Given the description of an element on the screen output the (x, y) to click on. 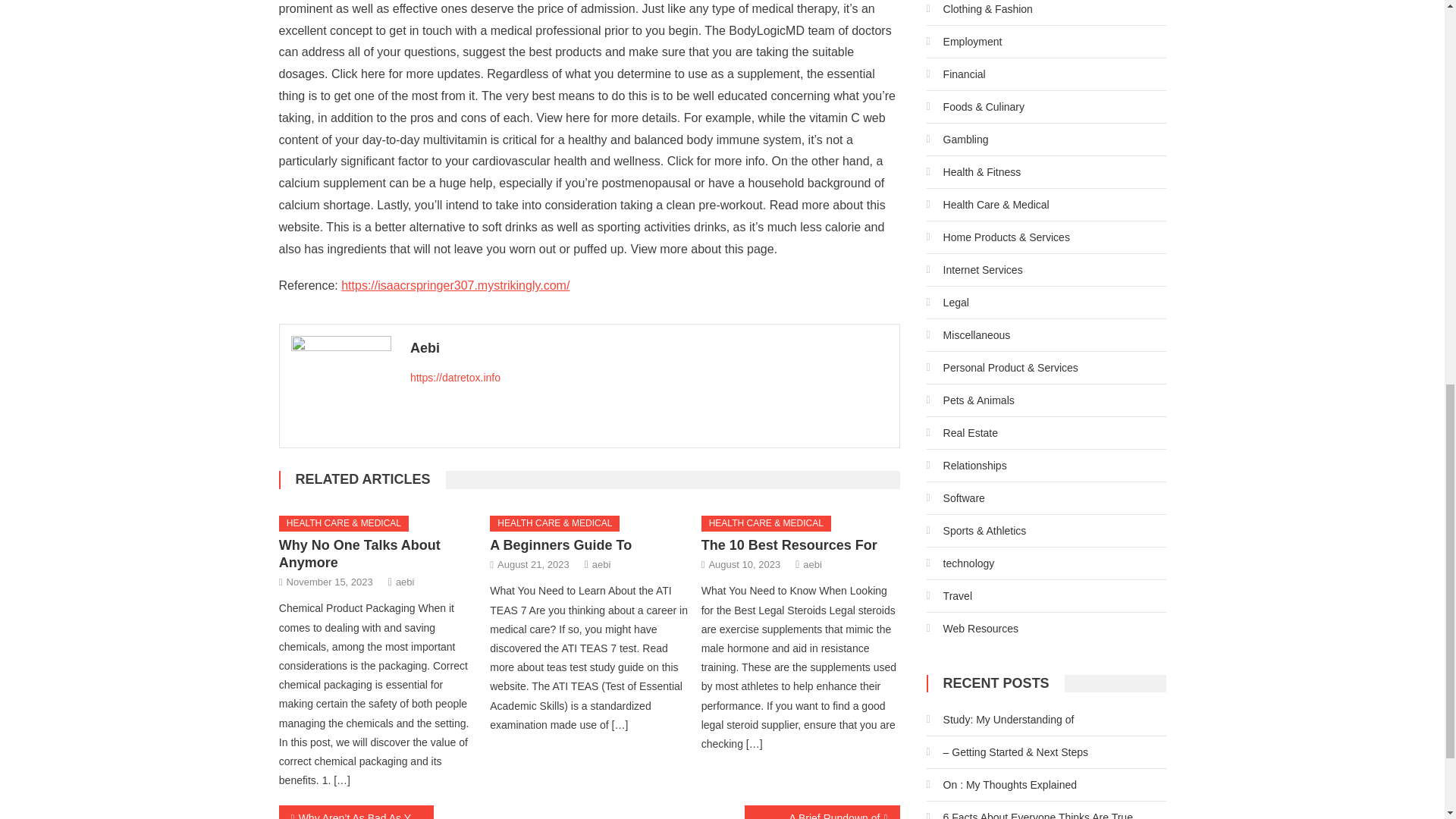
A Brief Rundown of (821, 812)
aebi (812, 564)
November 15, 2023 (329, 581)
Aebi (649, 347)
Why No One Talks About Anymore (360, 553)
aebi (601, 564)
A Beginners Guide To (560, 544)
The 10 Best Resources For (789, 544)
August 10, 2023 (743, 564)
aebi (405, 581)
August 21, 2023 (533, 564)
